Given the description of an element on the screen output the (x, y) to click on. 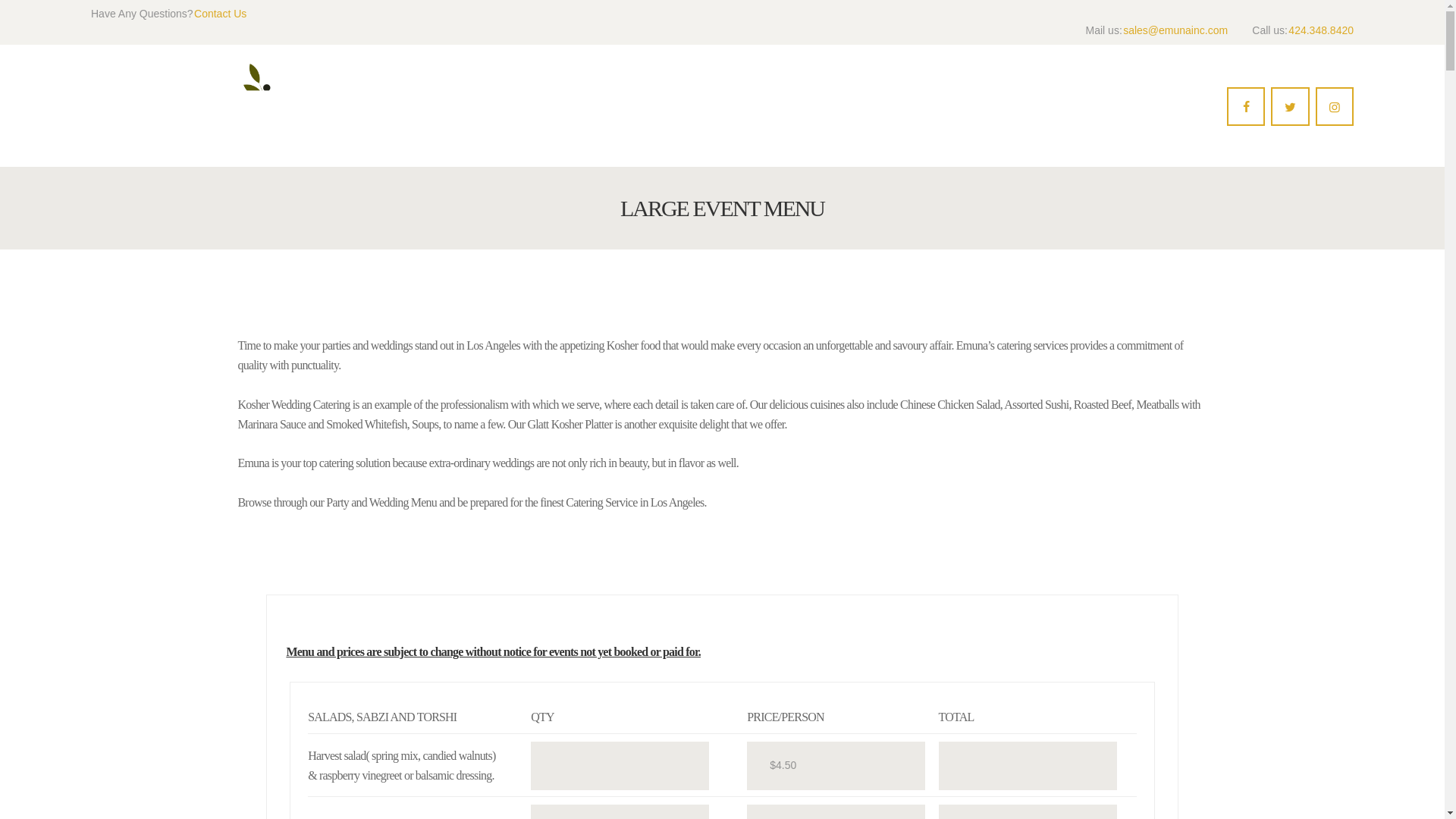
Have Any Questions?Contact Us (168, 13)
Call us:424.348.8420 (1303, 30)
